Given the description of an element on the screen output the (x, y) to click on. 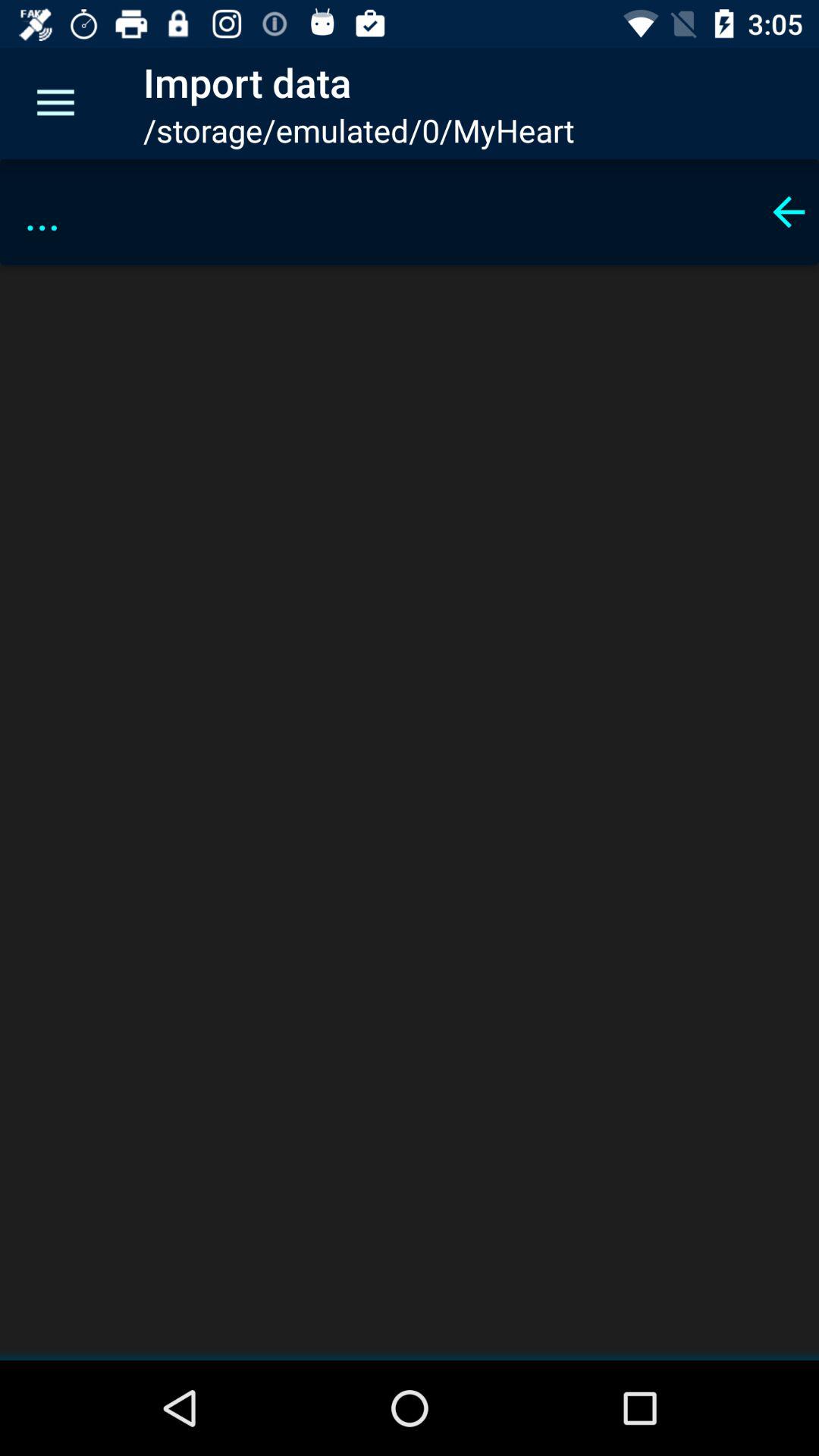
flip to the ... item (385, 212)
